Given the description of an element on the screen output the (x, y) to click on. 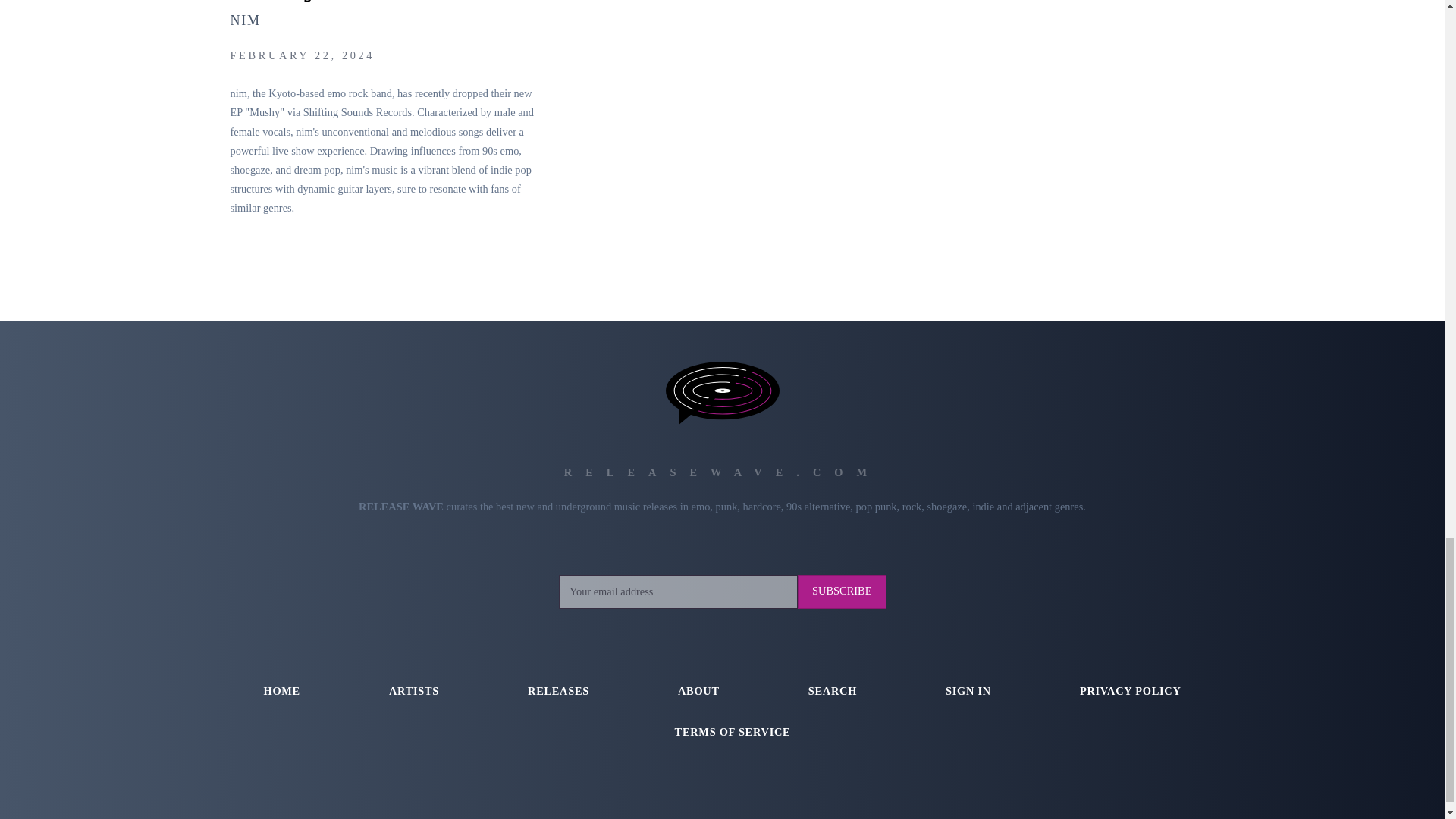
Privacy Policy on Release Wave (1130, 690)
Home on Release Wave (280, 690)
Mushy (274, 1)
TERMS OF SERVICE (733, 731)
Artists on Release Wave (413, 690)
About on Release Wave (698, 690)
PRIVACY POLICY (1130, 690)
Releases on Release Wave (557, 690)
ABOUT (698, 690)
SEARCH (832, 690)
